Given the description of an element on the screen output the (x, y) to click on. 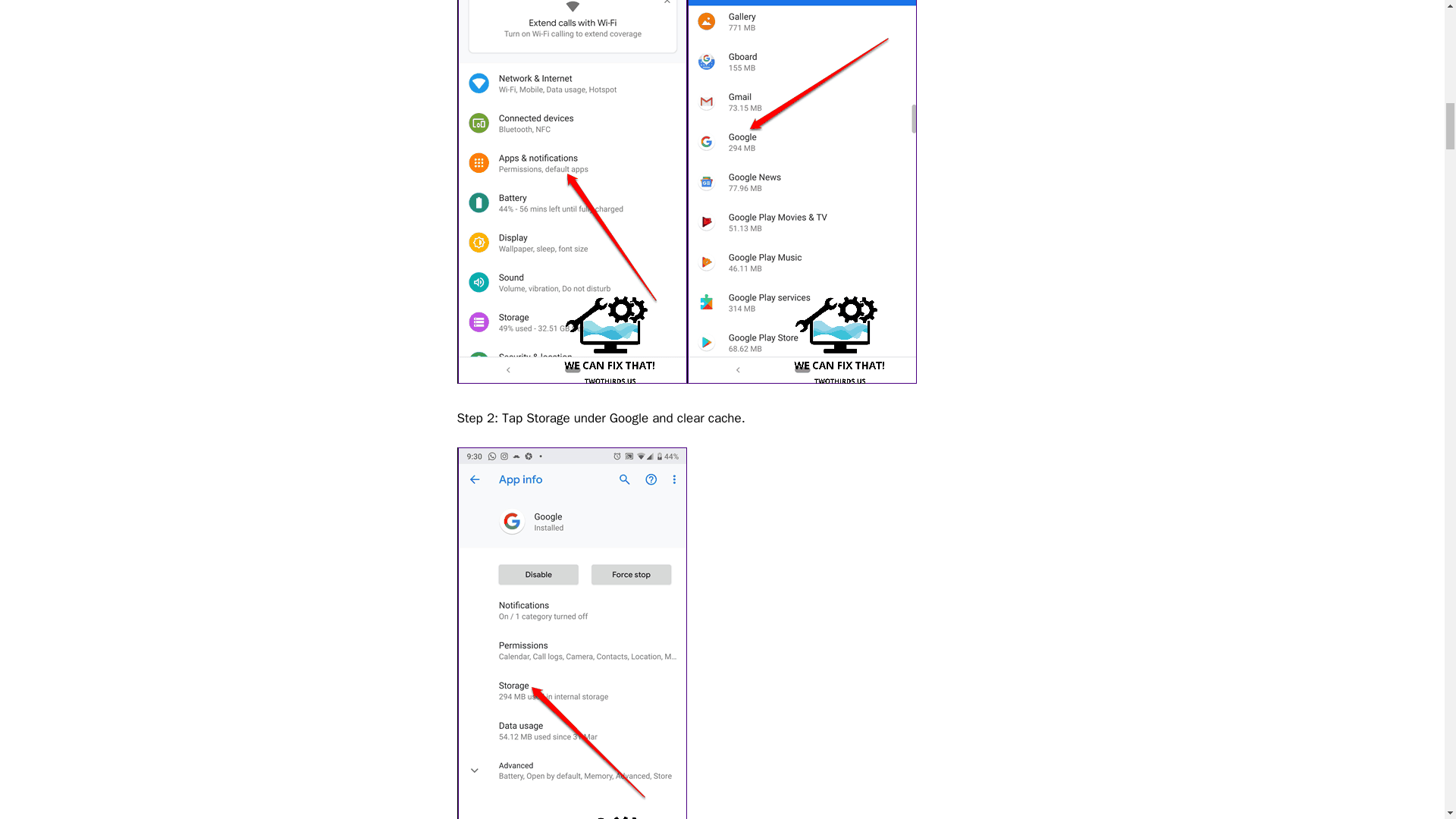
How To Change Google Feed Language in the Google App (571, 633)
How To Change Google Feed Language in the Google App (802, 192)
How To Change Google Feed Language in the Google App (571, 192)
